Given the description of an element on the screen output the (x, y) to click on. 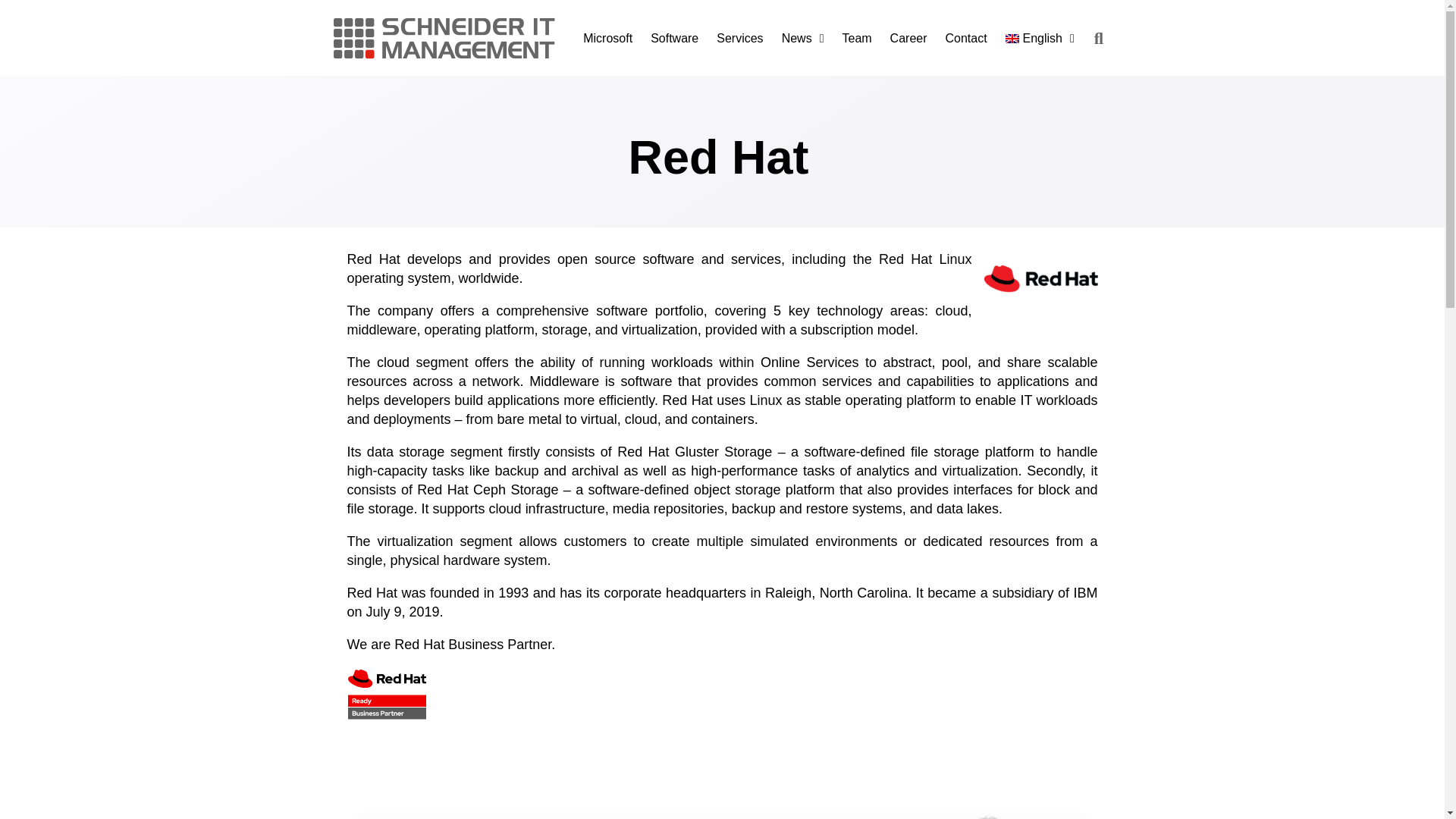
English (1039, 38)
Services (739, 38)
Software (674, 38)
Microsoft (607, 38)
News (802, 38)
